Given the description of an element on the screen output the (x, y) to click on. 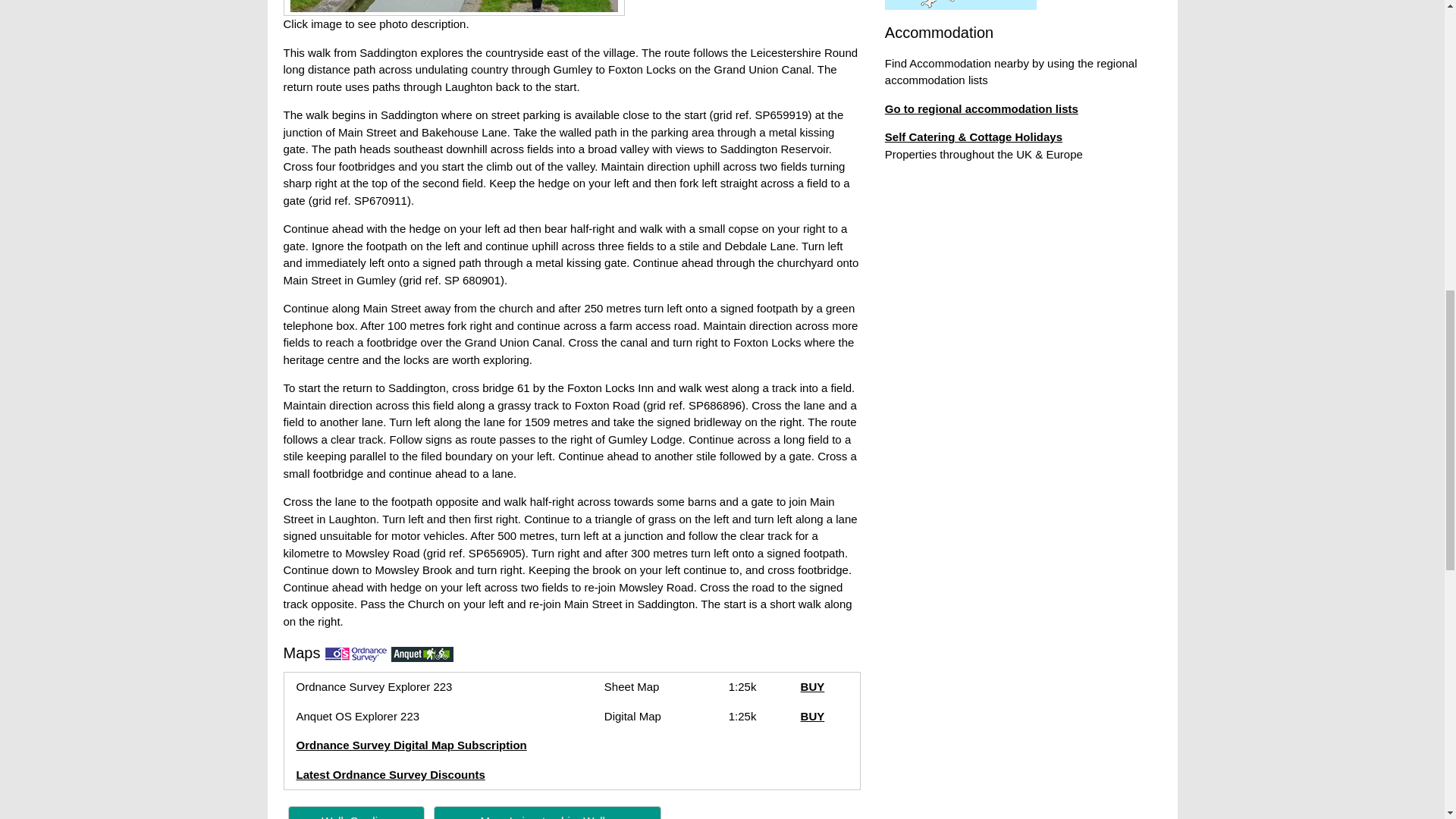
Walk Grading (356, 812)
Walk Grading (356, 816)
BUY (812, 716)
Ordnance Survey Digital Map Subscription (410, 744)
Latest Ordnance Survey Discounts (389, 774)
BUY (812, 686)
